Given the description of an element on the screen output the (x, y) to click on. 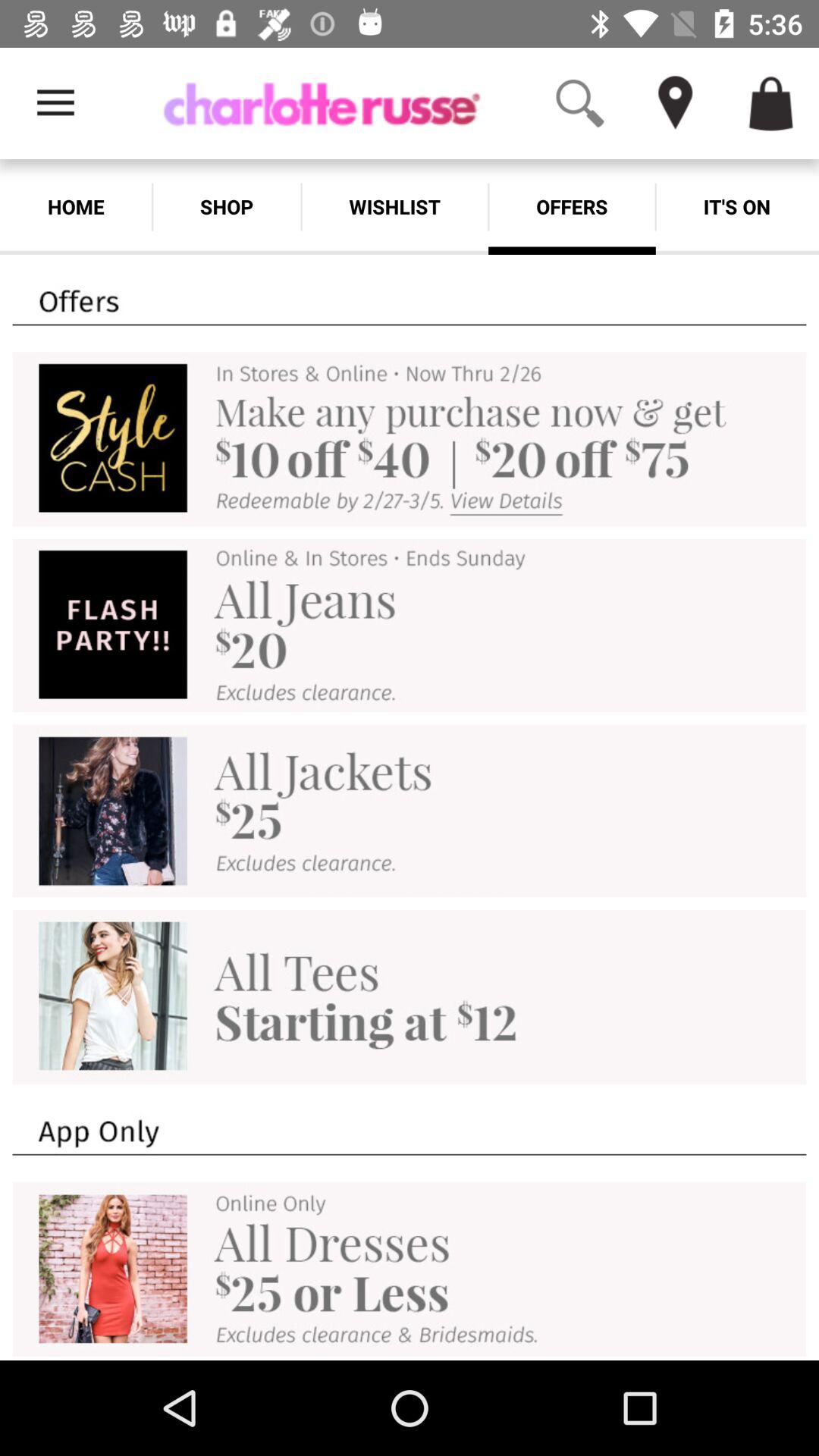
choose the app to the left of wishlist icon (226, 206)
